Given the description of an element on the screen output the (x, y) to click on. 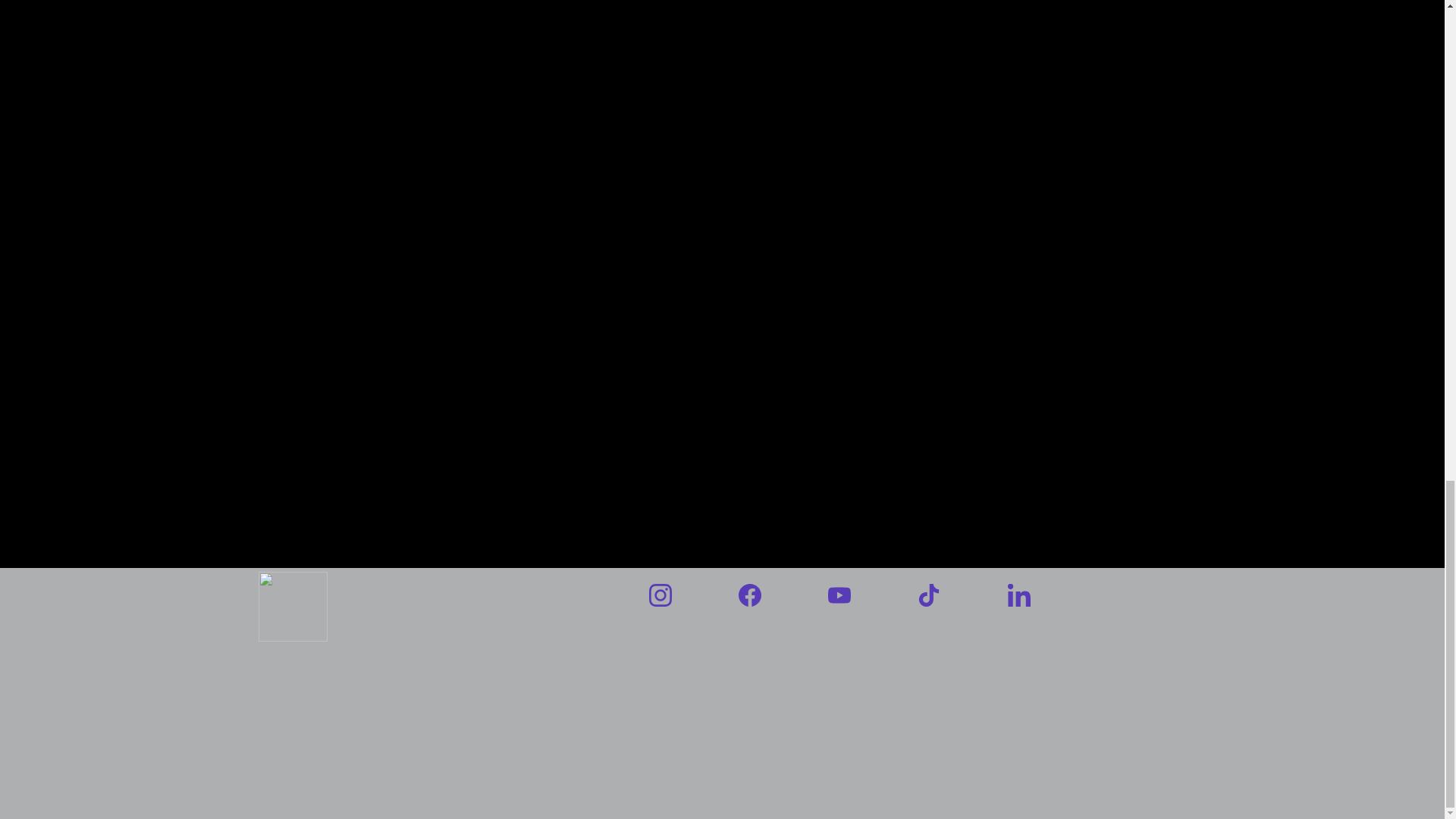
Go to Tiktok page (928, 594)
Go to Youtube page (839, 594)
Go to Facebook page (749, 594)
Go to Linkedin-in page (1018, 594)
Go to Instagram page (660, 594)
